Given the description of an element on the screen output the (x, y) to click on. 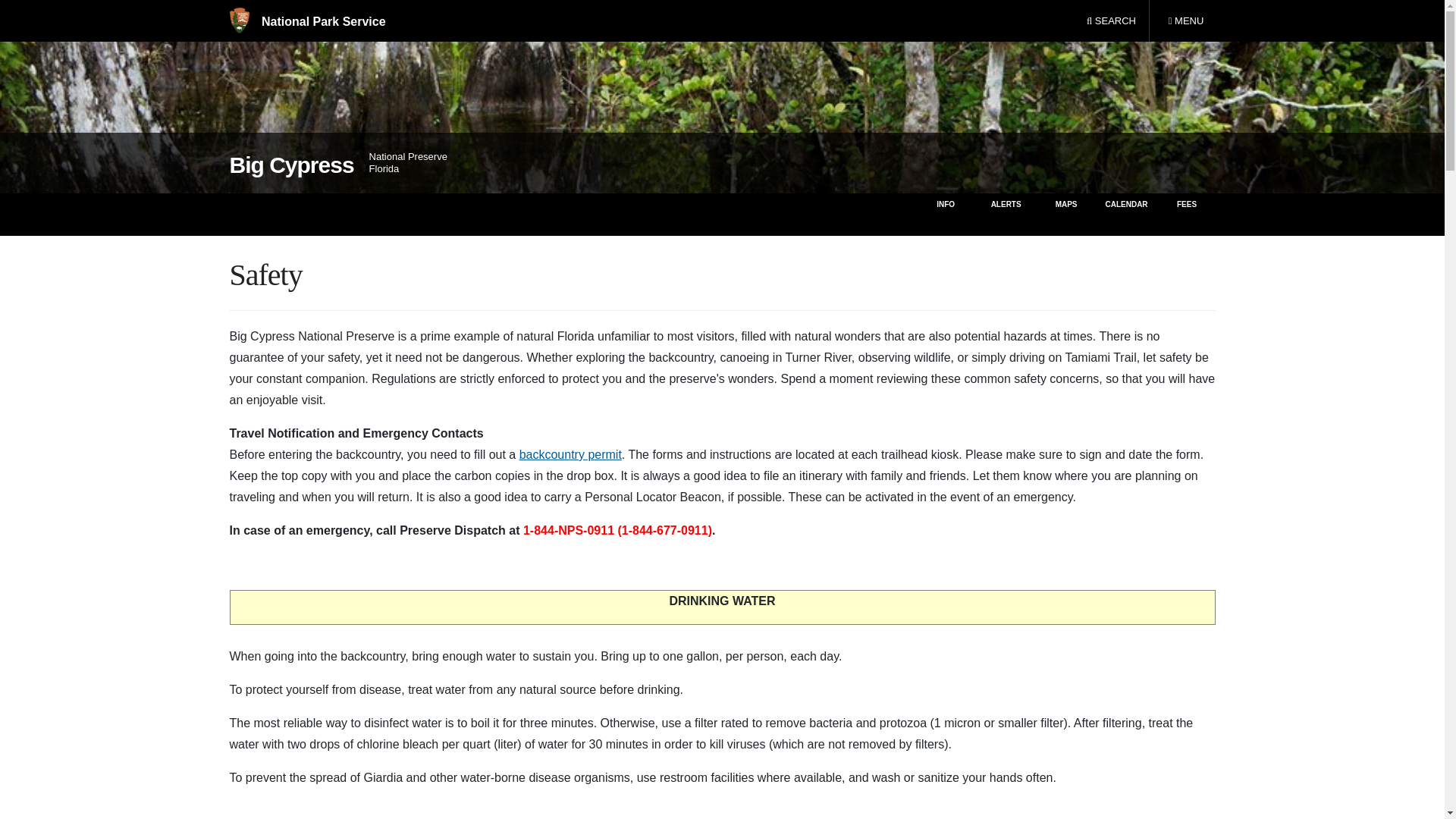
SEARCH (1111, 20)
FEES (1186, 214)
CALENDAR (1125, 214)
National Park Service (307, 20)
ALERTS (1004, 214)
Big Cypress (290, 164)
MAPS (1066, 214)
backcountry permit (570, 454)
INFO (1185, 20)
